Given the description of an element on the screen output the (x, y) to click on. 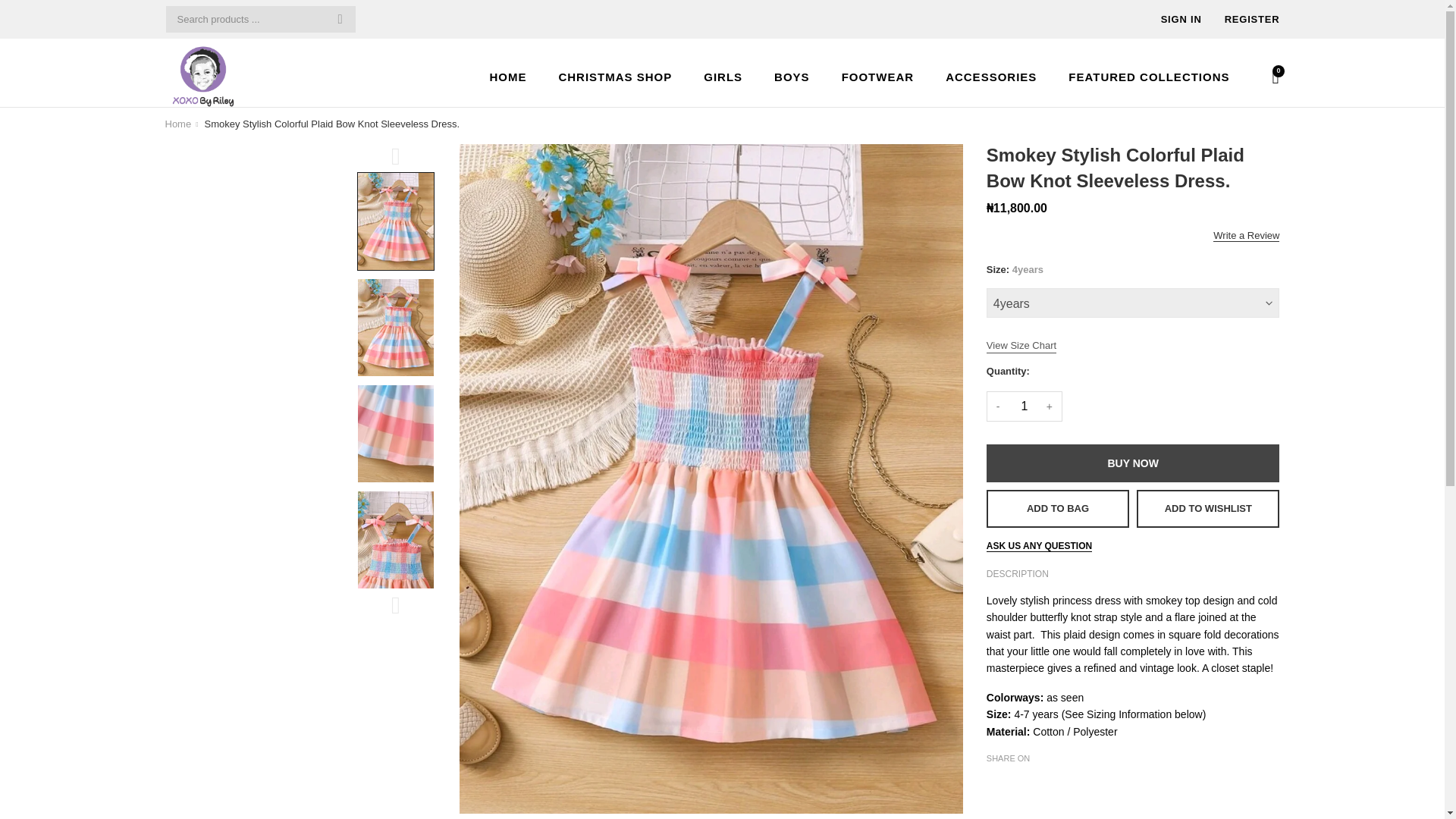
Pin on Pinterest (1040, 784)
xoxobyRiley (178, 124)
Smokey Stylish Colorful Plaid Bow Knot Sleeveless Dress. (331, 124)
GIRLS (722, 76)
Share on Facebook (995, 784)
SIGN IN (1181, 19)
Add to Wishlist (1208, 508)
1 (1024, 406)
Tweet on Twitter (1018, 784)
BOYS (791, 76)
